Given the description of an element on the screen output the (x, y) to click on. 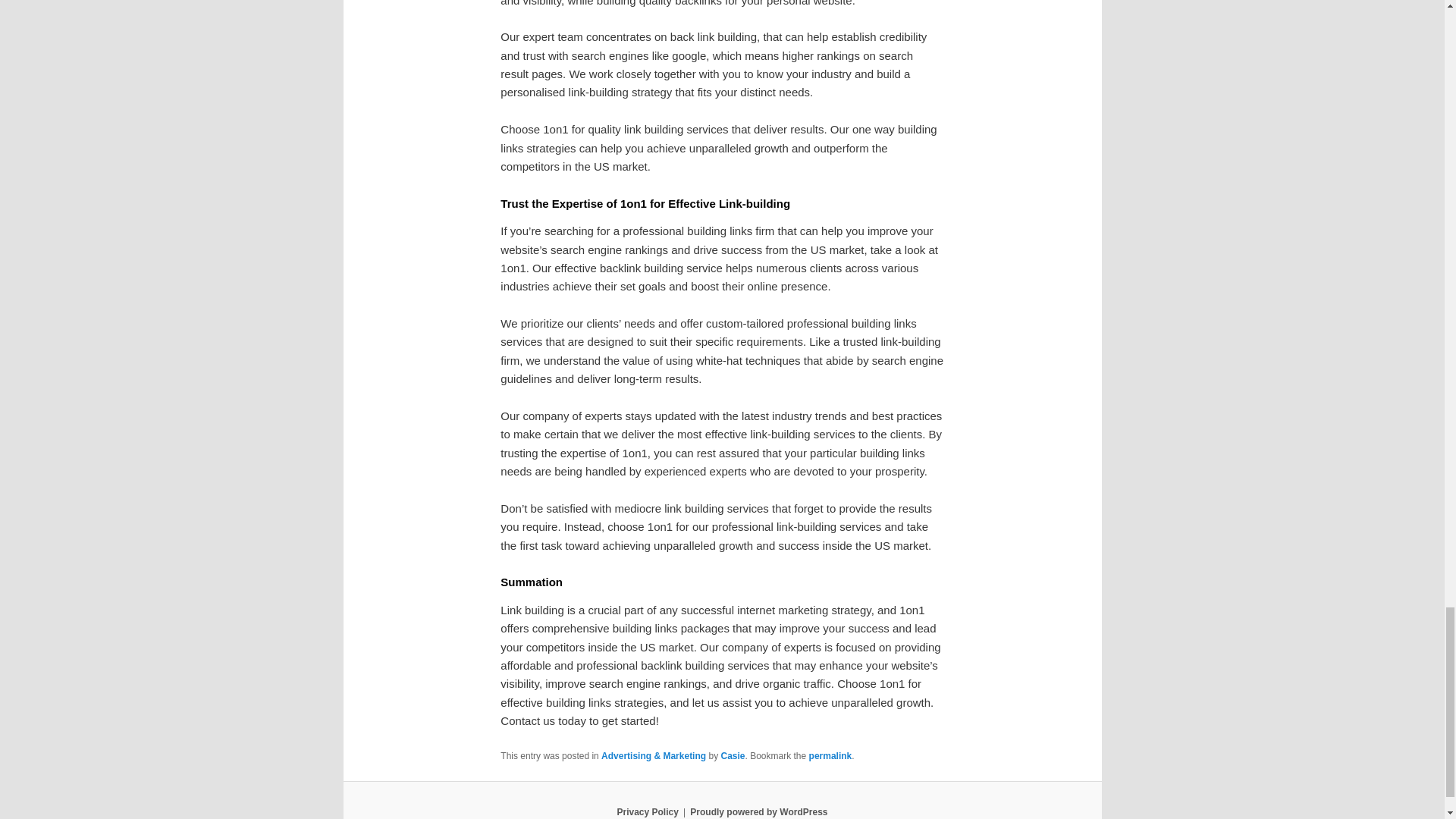
Semantic Personal Publishing Platform (758, 811)
Casie (732, 756)
permalink (830, 756)
Permalink to Mastering SEO Link Building Techniques 1on1 (830, 756)
Privacy Policy (646, 811)
Proudly powered by WordPress (758, 811)
